Given the description of an element on the screen output the (x, y) to click on. 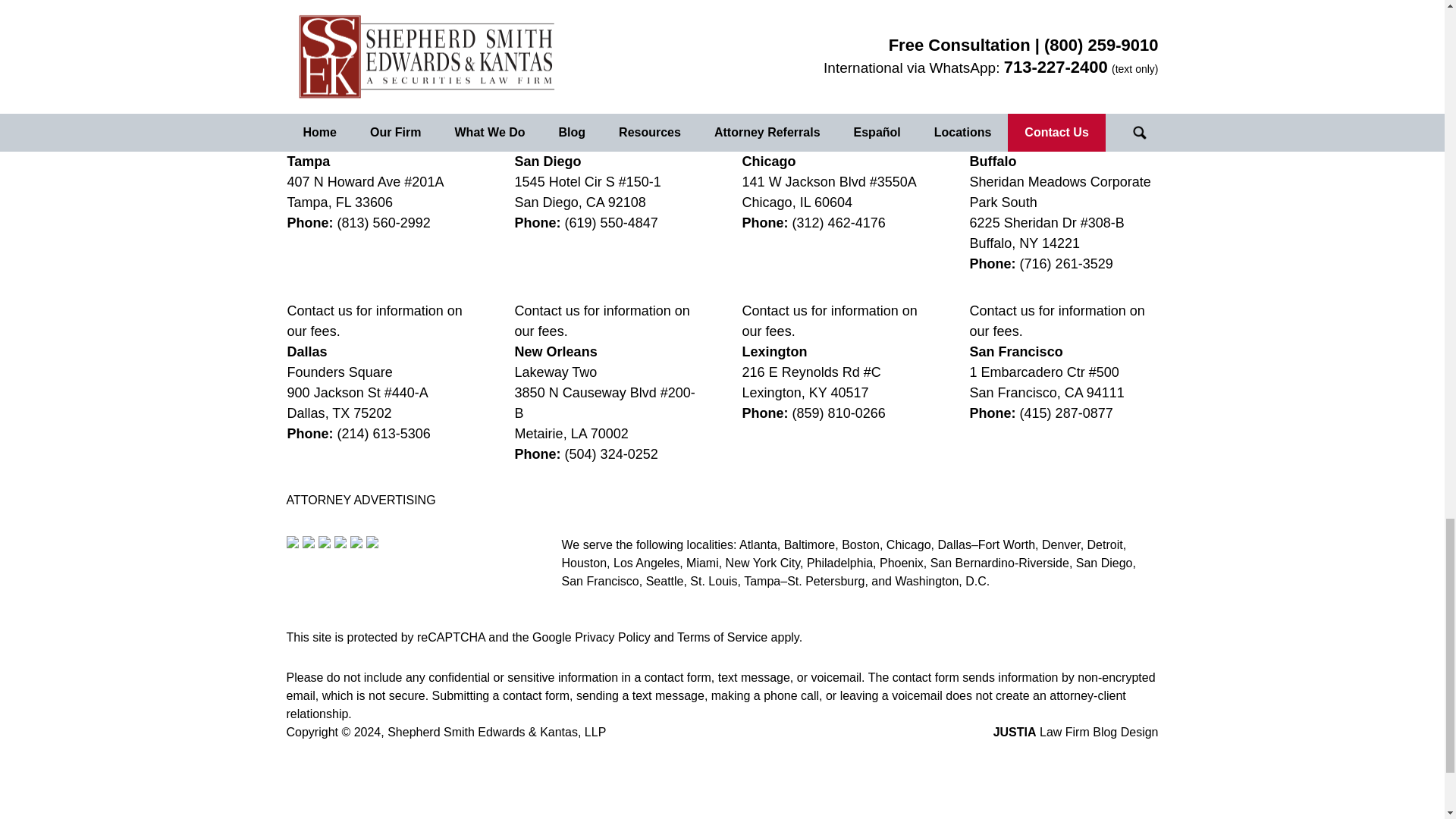
YouTube (356, 541)
Feed (371, 541)
Justia (339, 541)
Facebook (292, 541)
Twitter (307, 541)
LinkedIn (324, 541)
